Given the description of an element on the screen output the (x, y) to click on. 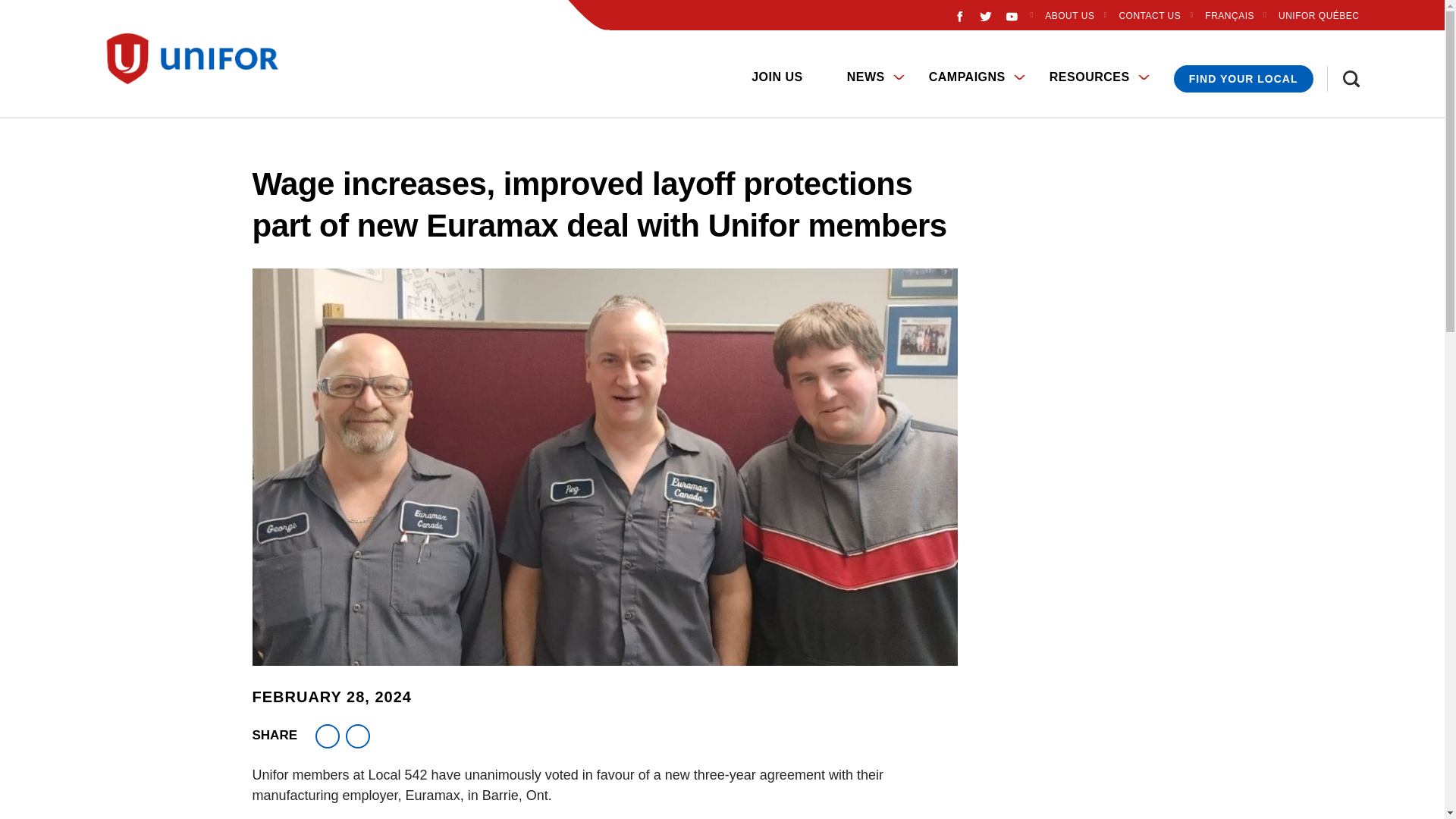
Home (198, 58)
Home (104, 65)
Find your Unifor Local (1243, 78)
